Given the description of an element on the screen output the (x, y) to click on. 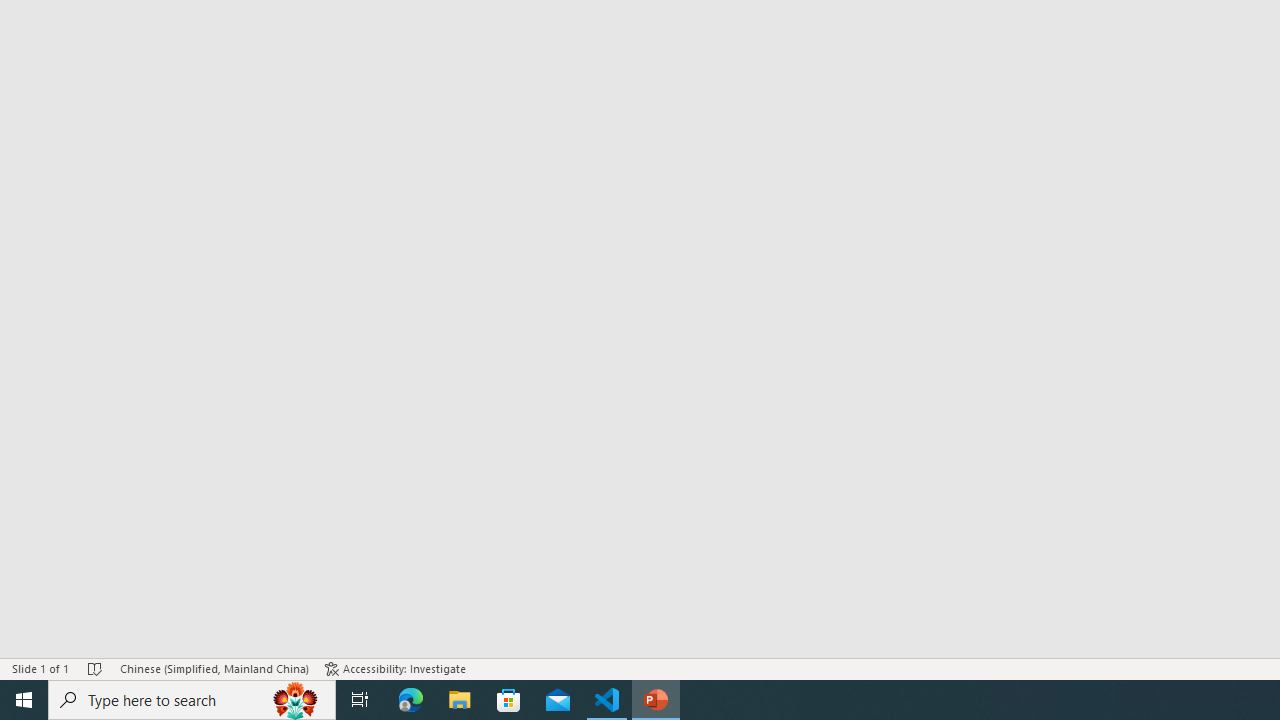
Microsoft Edge (411, 699)
